Given the description of an element on the screen output the (x, y) to click on. 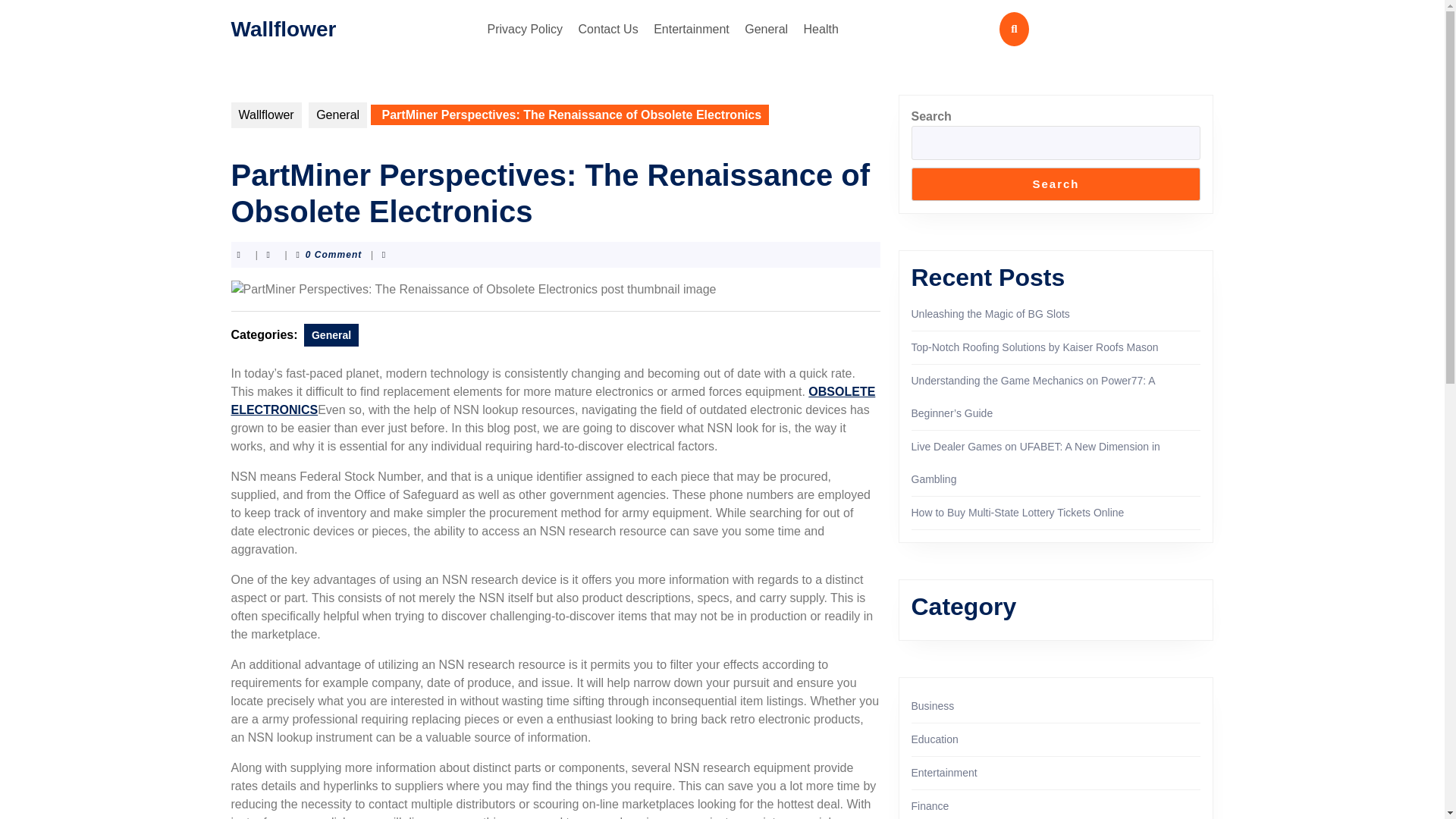
OBSOLETE ELECTRONICS (552, 400)
Top-Notch Roofing Solutions by Kaiser Roofs Mason (1034, 346)
Search (1056, 183)
General (331, 334)
Wallflower (265, 114)
Entertainment (691, 28)
Unleashing the Magic of BG Slots (990, 313)
Live Dealer Games on UFABET: A New Dimension in Gambling (1035, 462)
Business (933, 705)
Privacy Policy (524, 28)
